Given the description of an element on the screen output the (x, y) to click on. 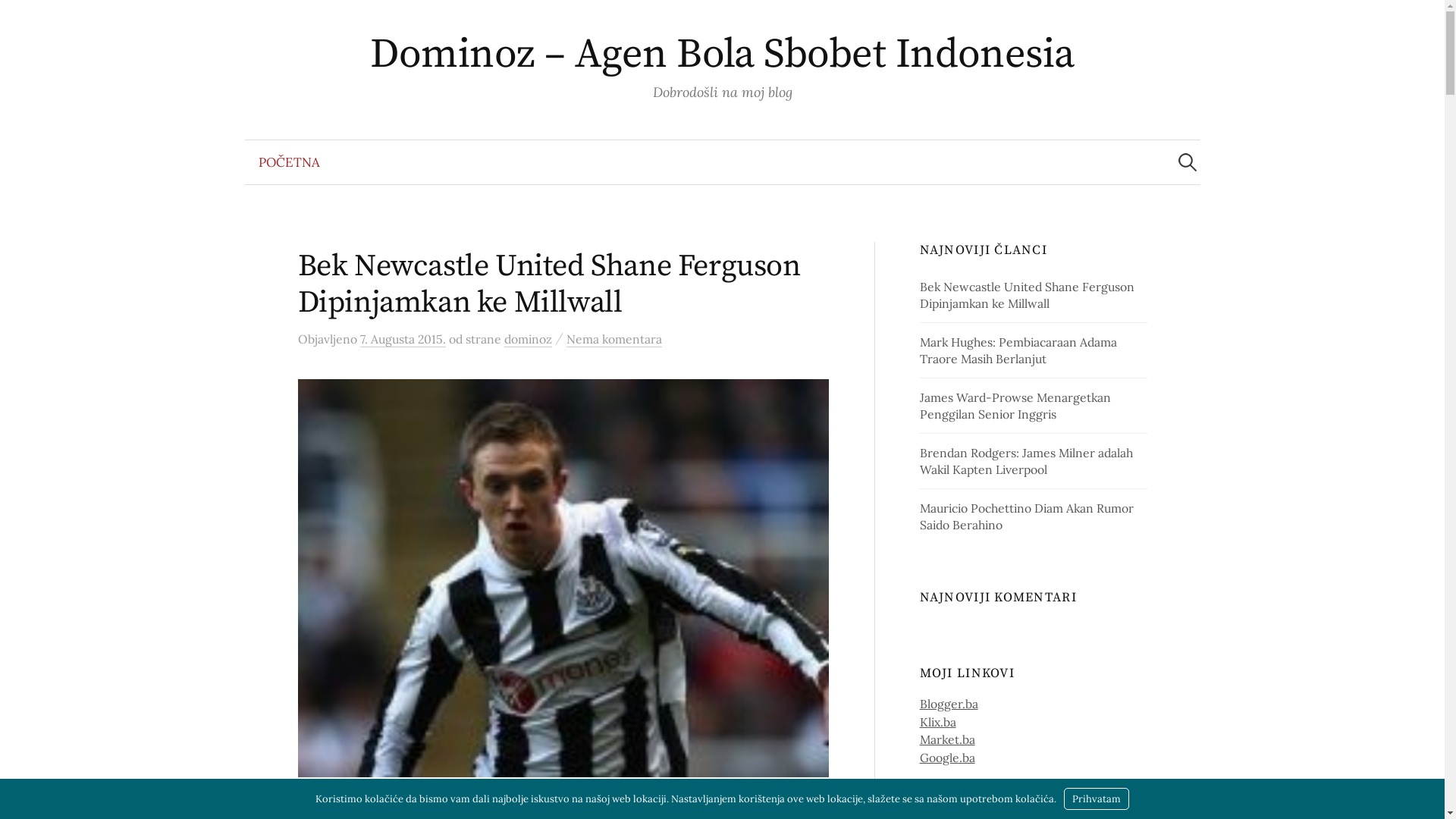
Brendan Rodgers: James Milner adalah Wakil Kapten Liverpool Element type: text (1025, 460)
7. Augusta 2015. Element type: text (402, 339)
Bek Newcastle United Shane Ferguson Dipinjamkan ke Millwall Element type: text (548, 284)
Google.ba Element type: text (947, 757)
James Ward-Prowse Menargetkan Penggilan Senior Inggris Element type: text (1014, 405)
Bek Newcastle United Shane Ferguson Dipinjamkan ke Millwall Element type: text (1026, 294)
Prihvatam Element type: text (1096, 798)
Blogger.ba Element type: text (948, 703)
Klix.ba Element type: text (937, 721)
dominoz Element type: text (527, 339)
Mark Hughes: Pembiacaraan Adama Traore Masih Berlanjut Element type: text (1018, 350)
Pretraga Element type: text (18, 18)
Mauricio Pochettino Diam Akan Rumor Saido Berahino Element type: text (1026, 516)
Market.ba Element type: text (947, 738)
